Given the description of an element on the screen output the (x, y) to click on. 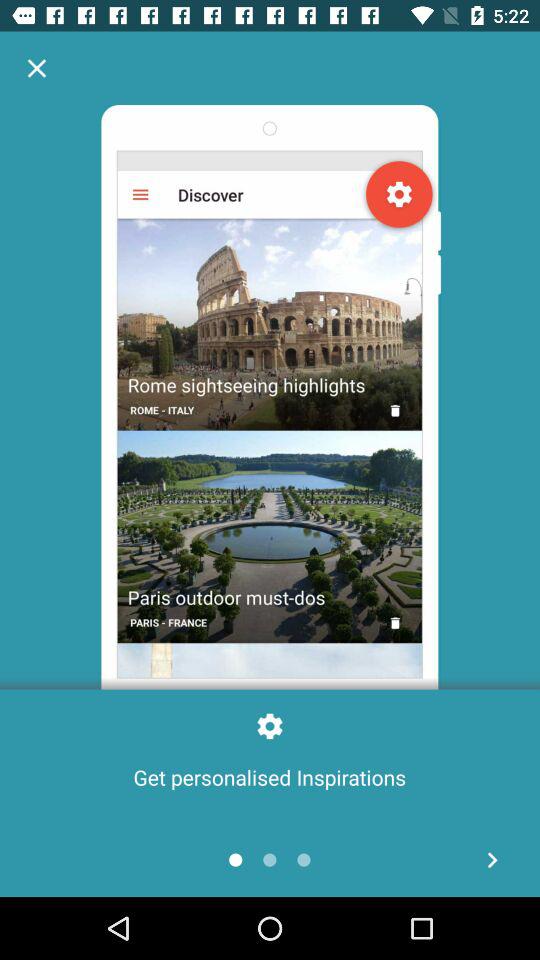
next (492, 860)
